Given the description of an element on the screen output the (x, y) to click on. 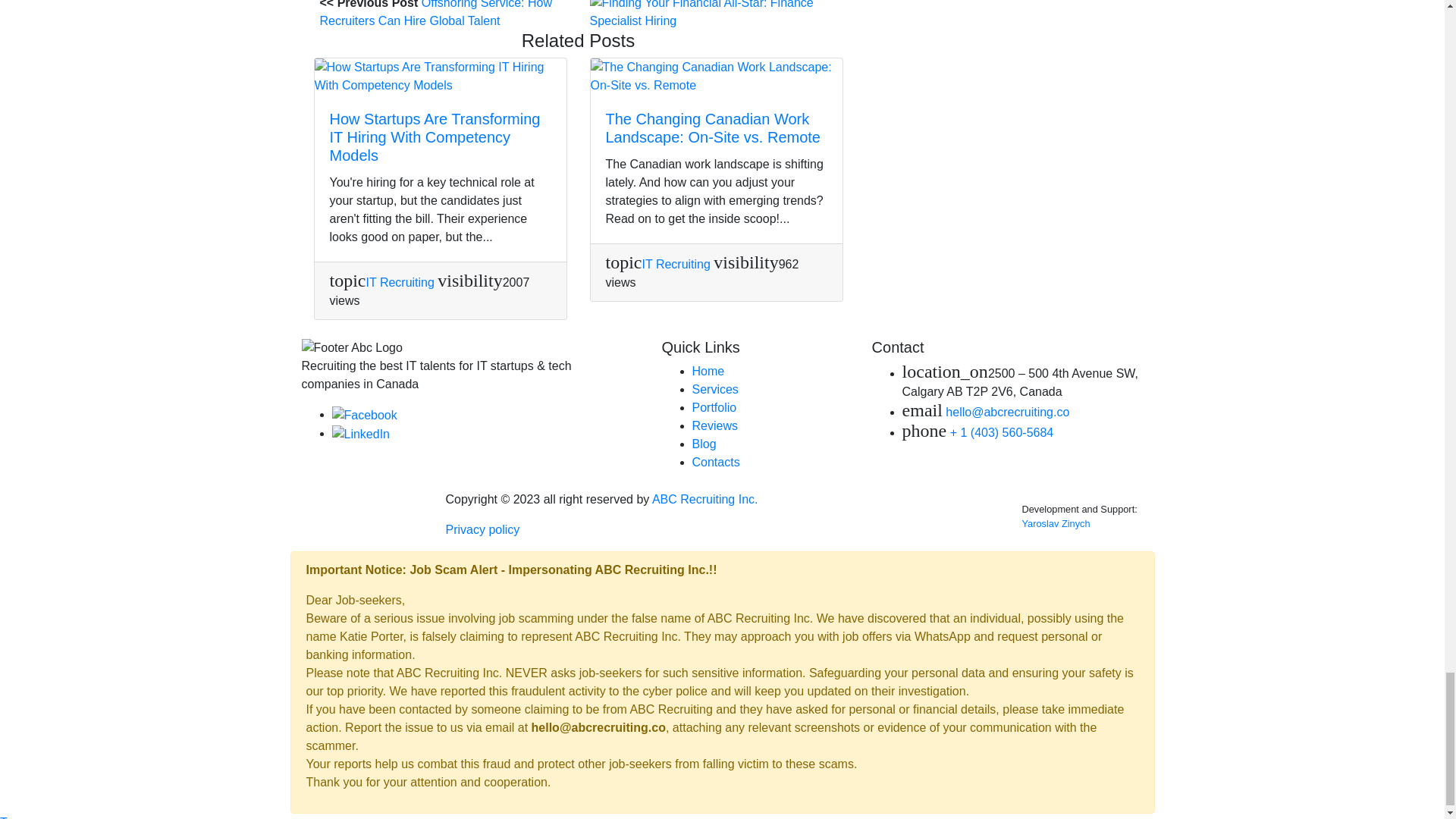
IT Recruiting (399, 282)
The Changing Canadian Work Landscape: On-Site vs. Remote (712, 127)
IT Recruiting (676, 264)
Offshoring Service: How Recruiters Can Hire Global Talent (436, 13)
